Given the description of an element on the screen output the (x, y) to click on. 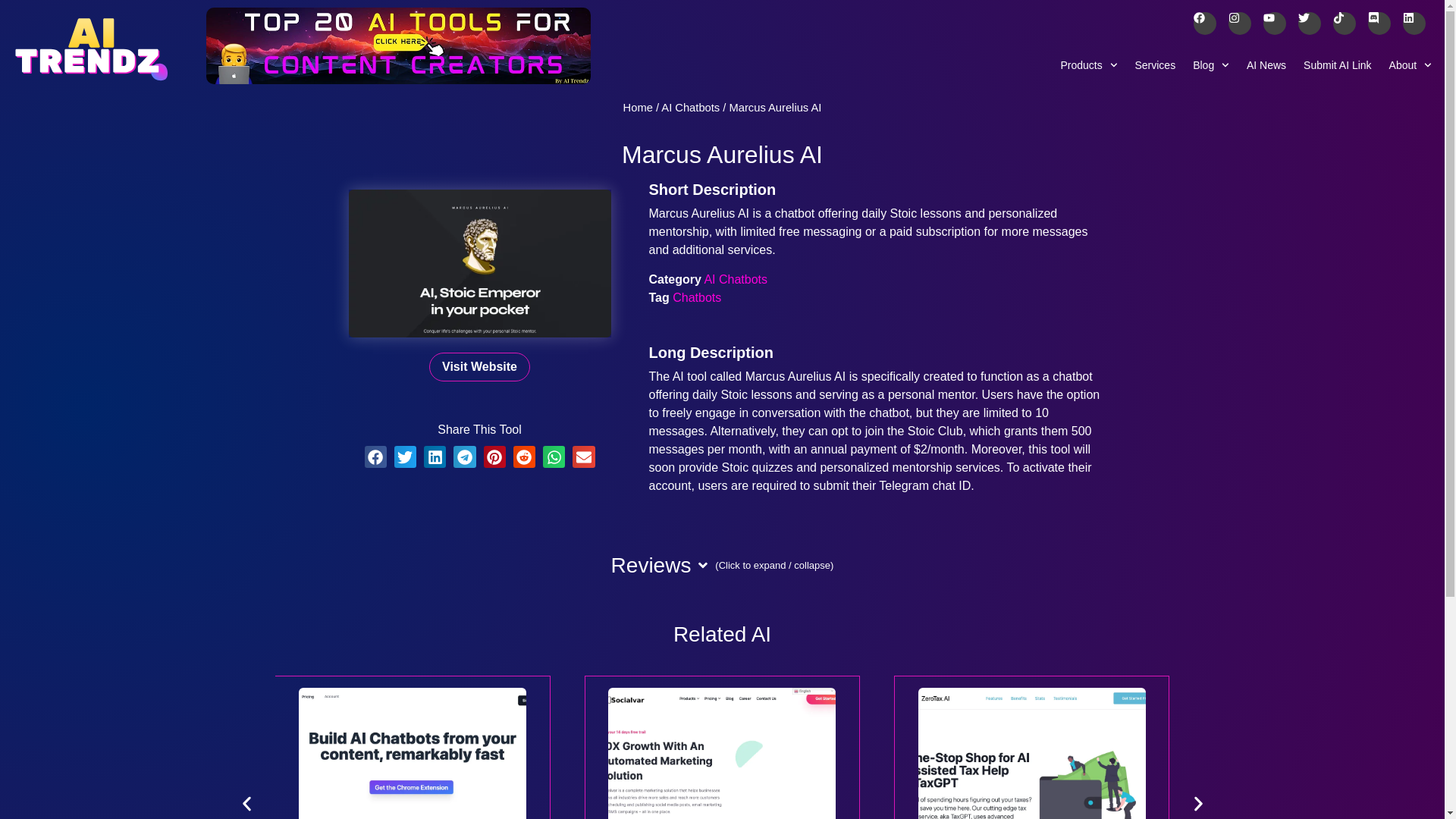
Products (1088, 64)
marcus-aurelius-ai (480, 263)
About (1410, 64)
Submit AI Link (1337, 64)
Blog (1211, 64)
Services (1154, 64)
AI News (1266, 64)
